Given the description of an element on the screen output the (x, y) to click on. 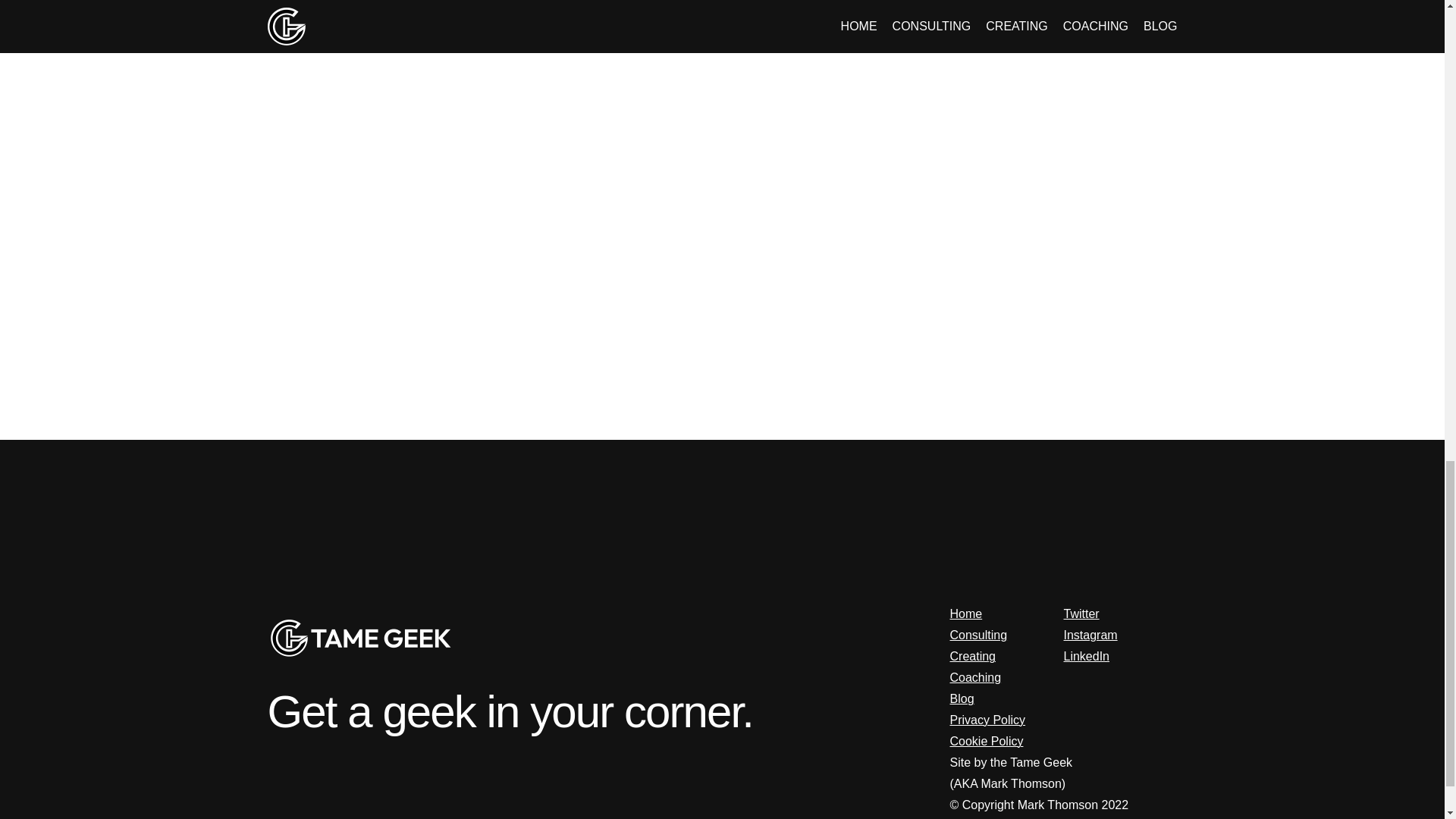
Privacy Policy (987, 719)
Cookie Policy (986, 740)
Consulting (978, 634)
Twitter (1080, 613)
Blog (961, 698)
Coaching (975, 676)
LinkedIn (1085, 656)
Creating (971, 656)
Instagram (1089, 634)
Home (965, 613)
